Given the description of an element on the screen output the (x, y) to click on. 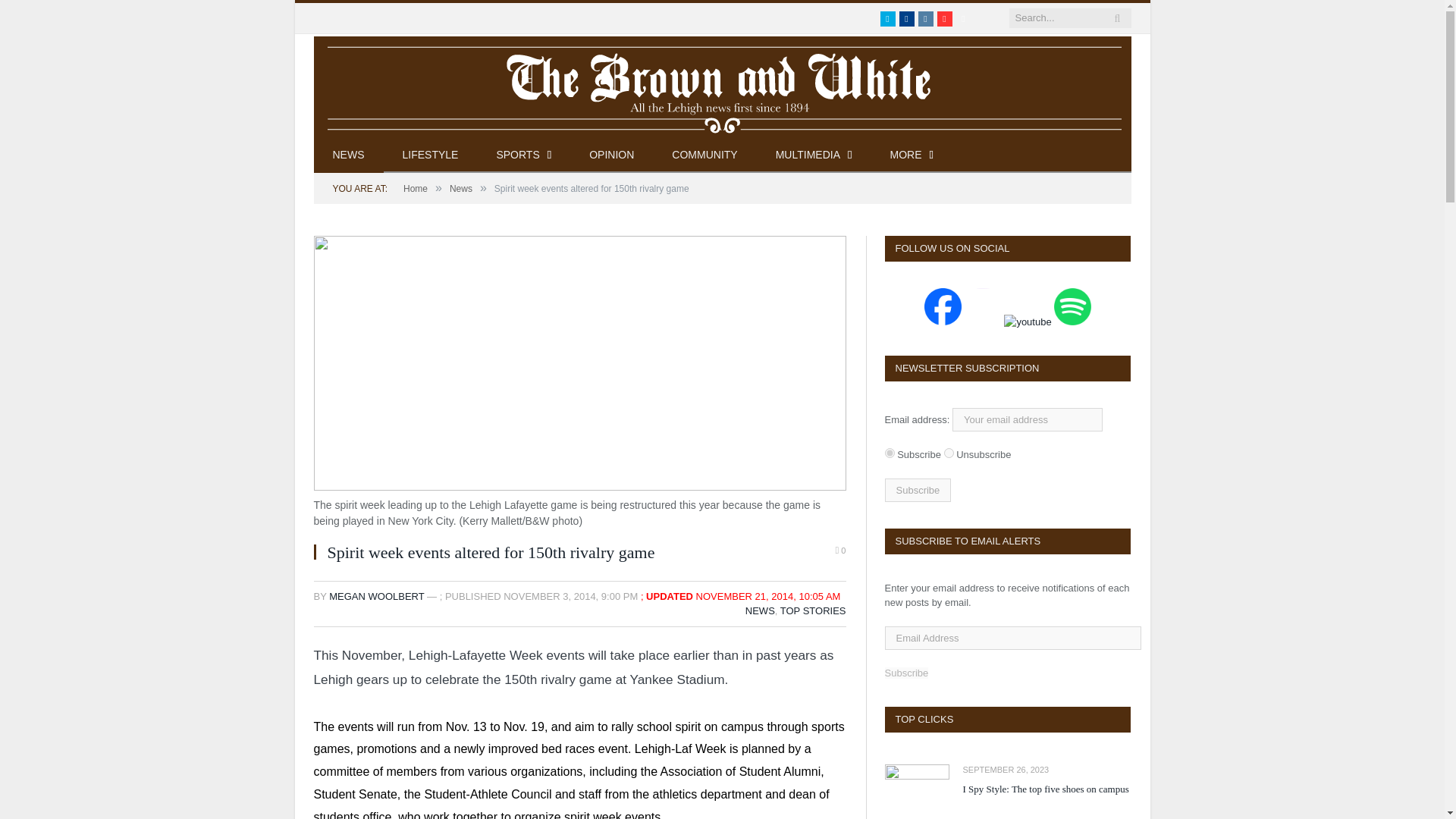
2014-11-03 (570, 595)
Twitter (887, 18)
NEWS (349, 155)
COMMUNITY (703, 155)
MORE (911, 155)
subscribe (888, 452)
Instagram (925, 18)
MULTIMEDIA (813, 155)
YouTube (944, 18)
Spotify (963, 18)
The Brown and White (722, 84)
Twitter (887, 18)
2014-11-21 (768, 595)
Subscribe (916, 490)
